Given the description of an element on the screen output the (x, y) to click on. 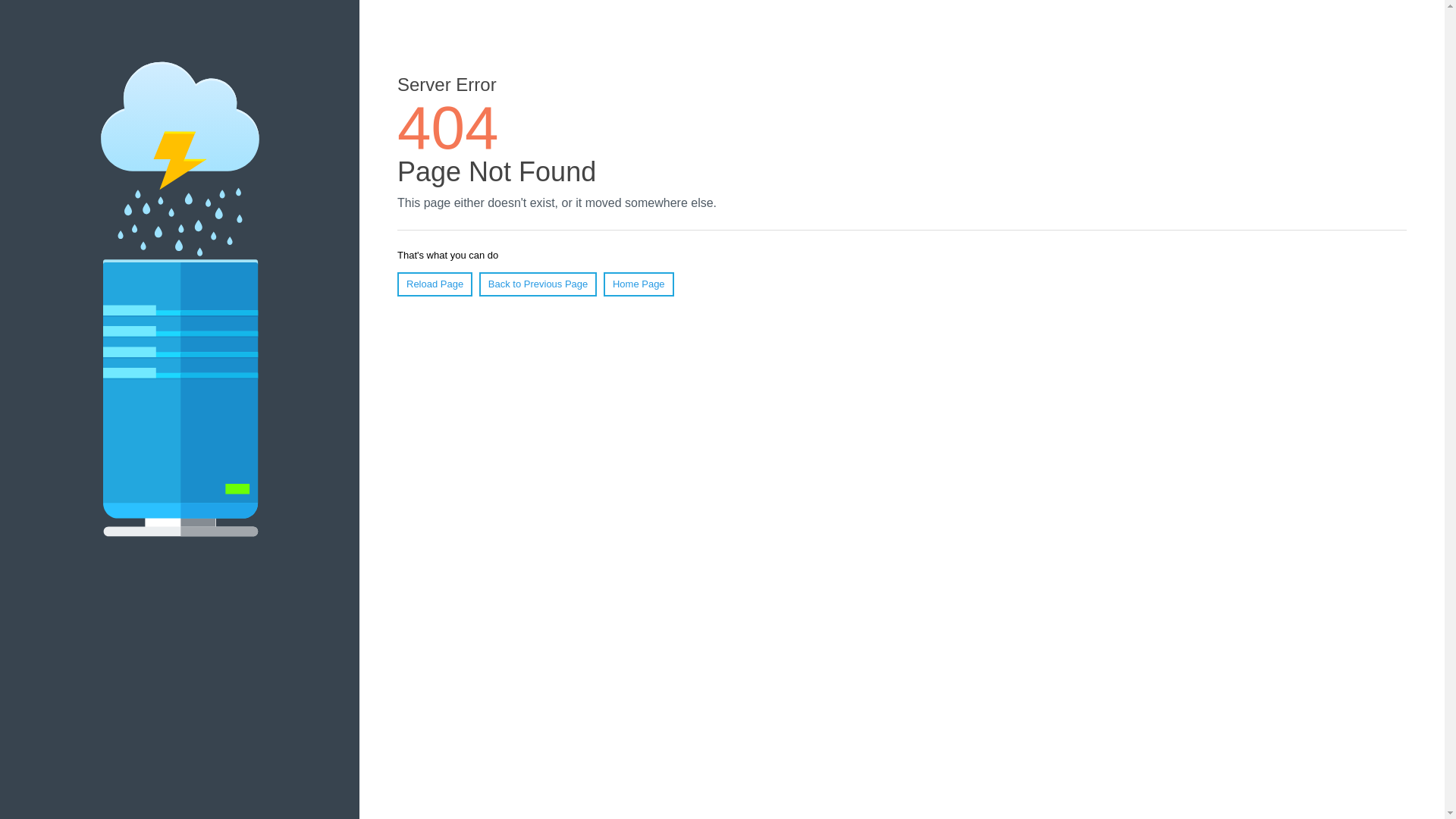
Home Page Element type: text (638, 284)
Reload Page Element type: text (434, 284)
Back to Previous Page Element type: text (538, 284)
